Given the description of an element on the screen output the (x, y) to click on. 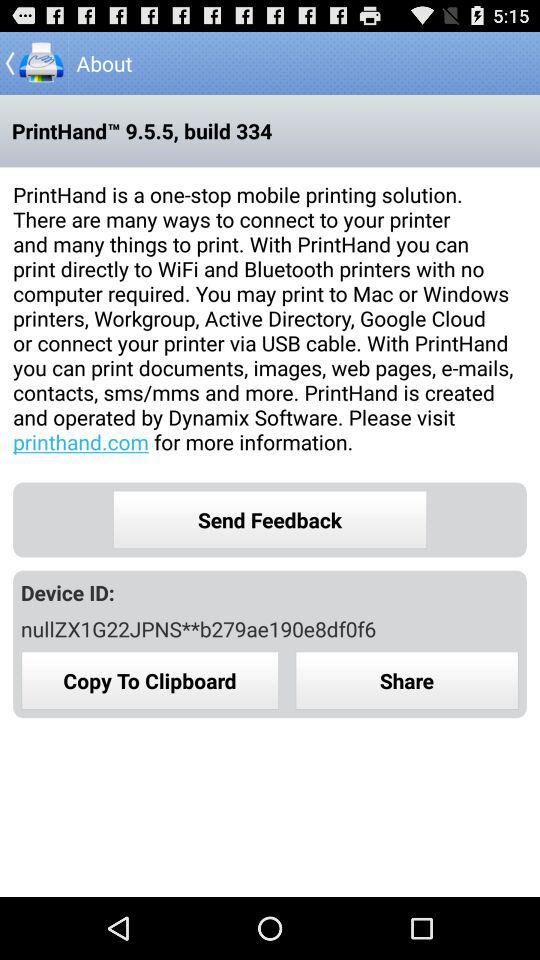
open printhand is a icon (270, 317)
